Given the description of an element on the screen output the (x, y) to click on. 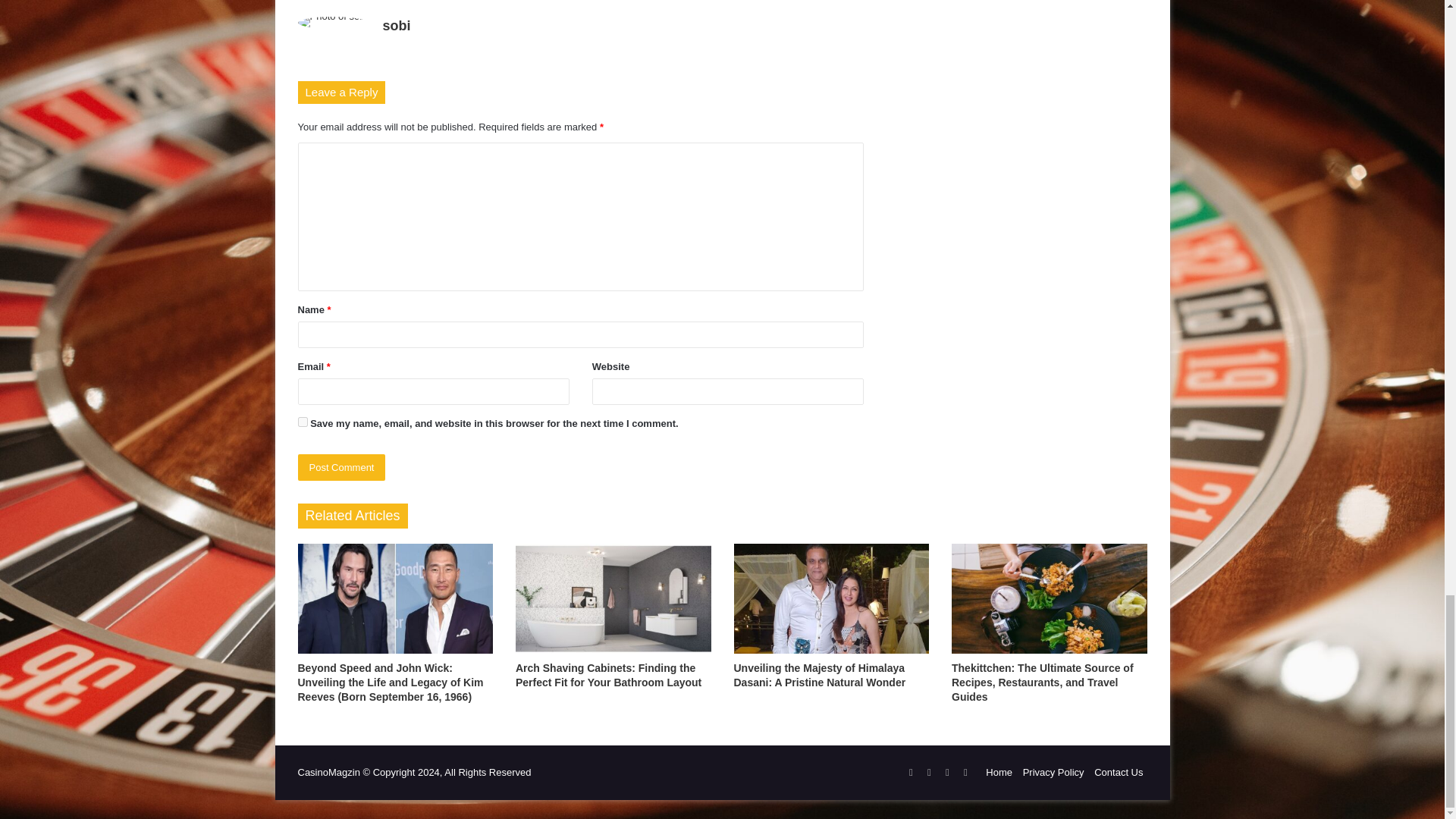
sobi (395, 25)
yes (302, 421)
Post Comment (341, 467)
Post Comment (341, 467)
